Given the description of an element on the screen output the (x, y) to click on. 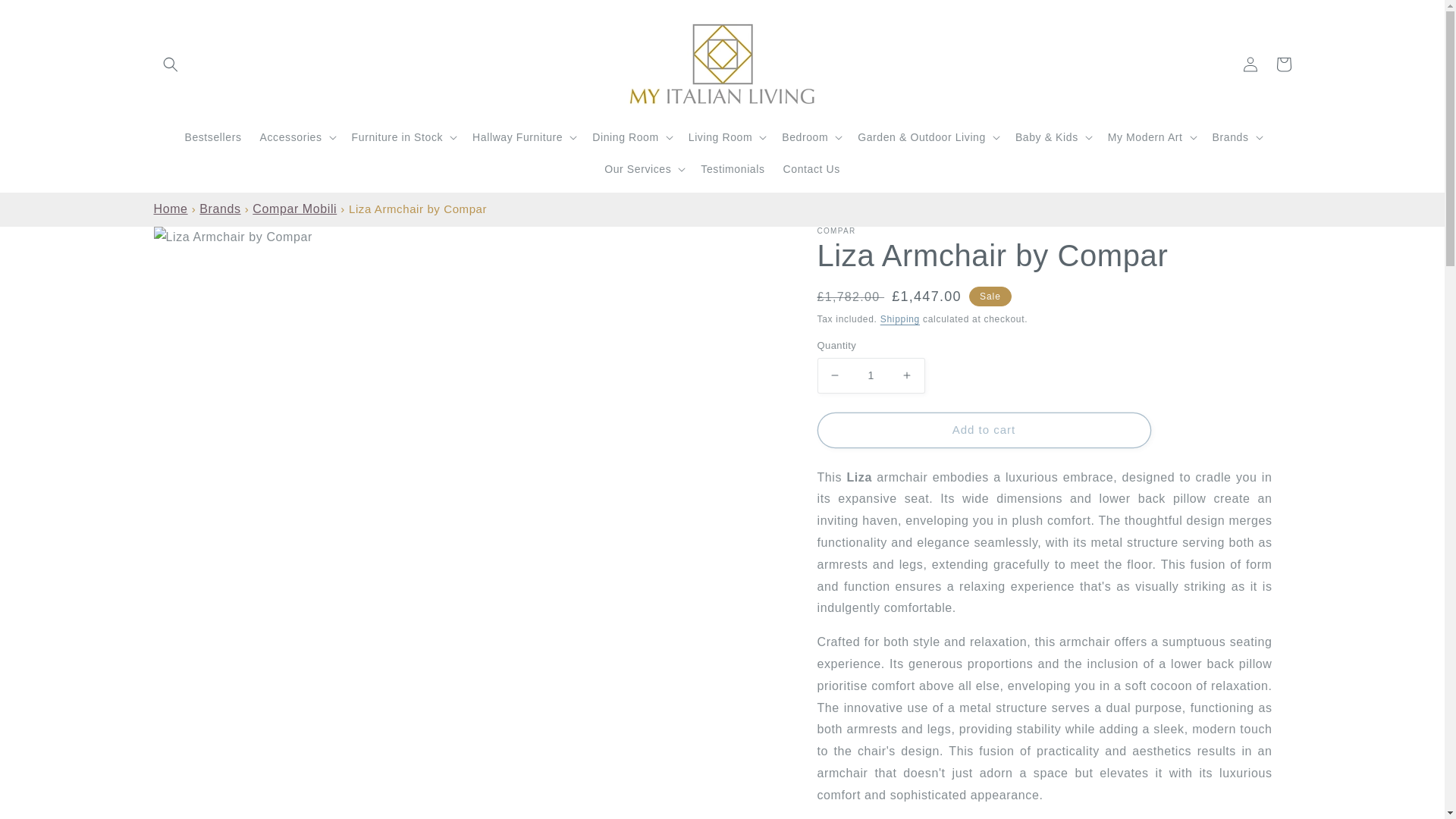
Home (169, 208)
1 (870, 375)
Compar Mobili (293, 208)
Skip to content (45, 17)
Brands (219, 208)
